Given the description of an element on the screen output the (x, y) to click on. 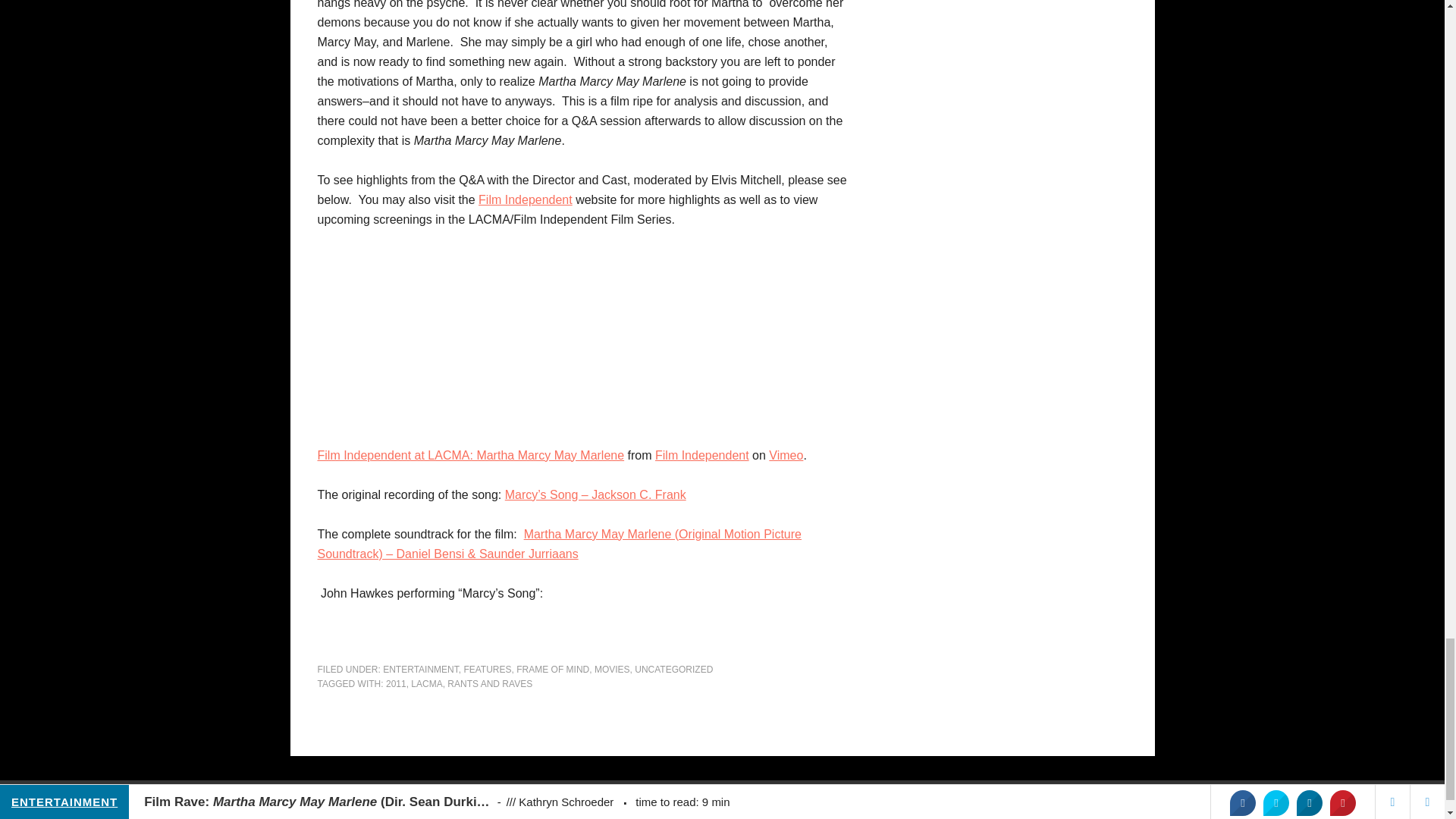
Vimeo (785, 454)
FRAME OF MIND (552, 669)
UNCATEGORIZED (673, 669)
LACMA (426, 683)
2011 (395, 683)
FEATURES (487, 669)
RANTS AND RAVES (489, 683)
MOVIES (612, 669)
Film Independent at LACMA: Martha Marcy May Marlene (470, 454)
Film Independent (702, 454)
Film Independent (525, 198)
ENTERTAINMENT (420, 669)
